Given the description of an element on the screen output the (x, y) to click on. 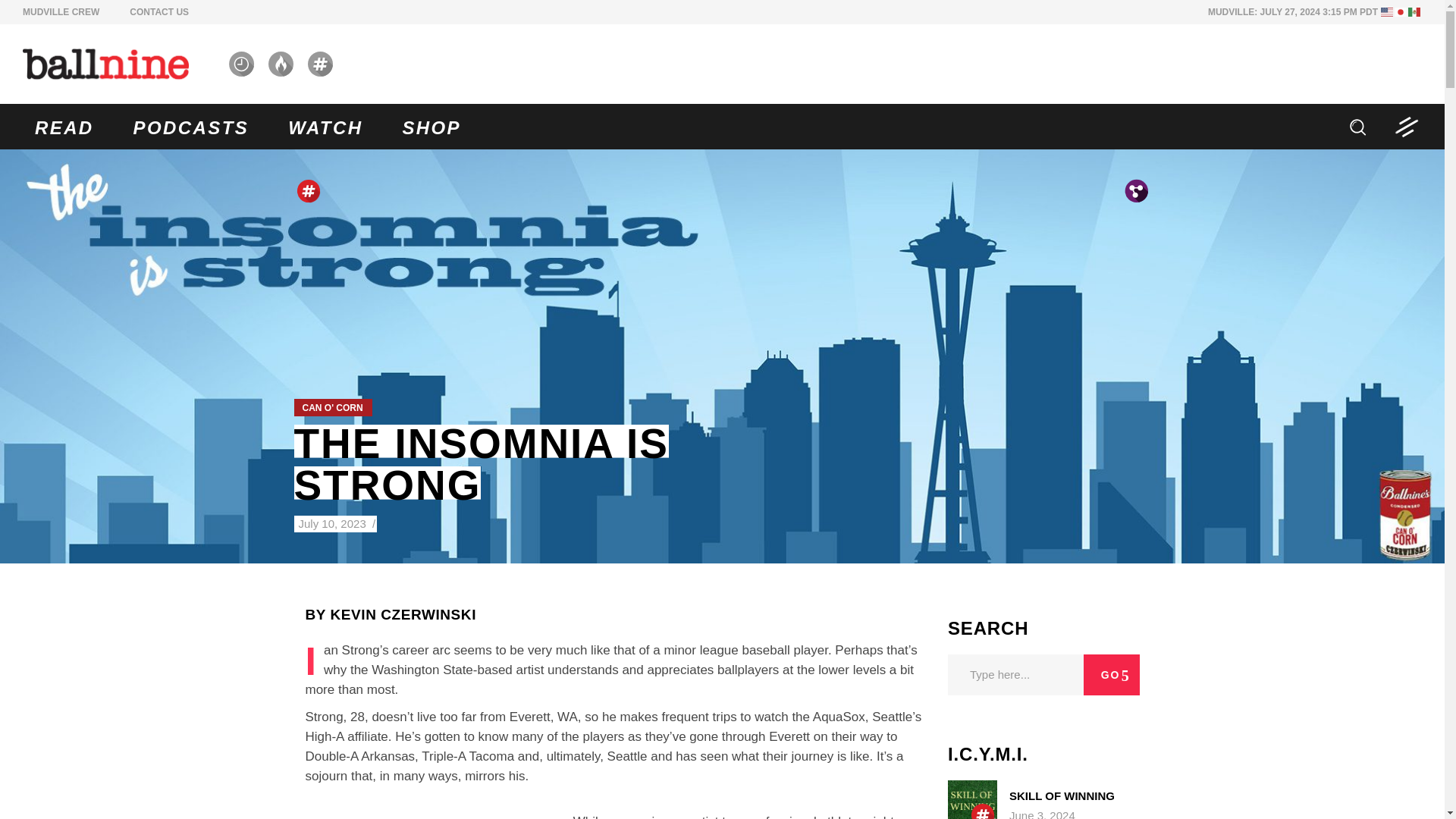
READ (64, 126)
Spanish (1414, 11)
MUDVILLE CREW (61, 11)
English (1387, 11)
CONTACT US (159, 11)
Japanese (1400, 11)
